Given the description of an element on the screen output the (x, y) to click on. 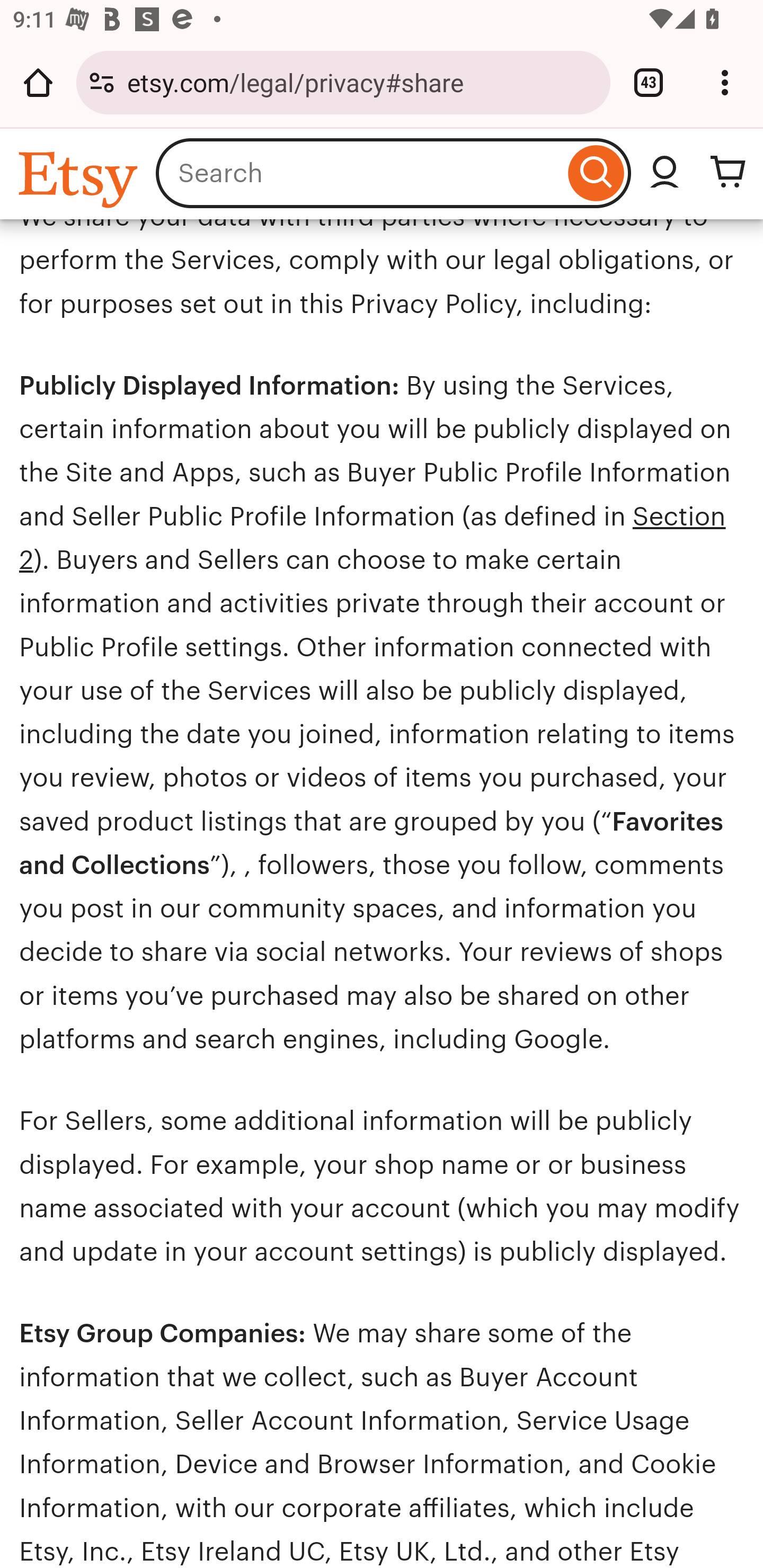
Open the home page (38, 82)
Connection is secure (101, 82)
Switch or close tabs (648, 82)
Customize and control Google Chrome (724, 82)
etsy.com/legal/privacy#share (362, 82)
Search (595, 173)
Cart (727, 173)
Sign in (664, 173)
Etsy (80, 179)
Section 2 (372, 538)
